Given the description of an element on the screen output the (x, y) to click on. 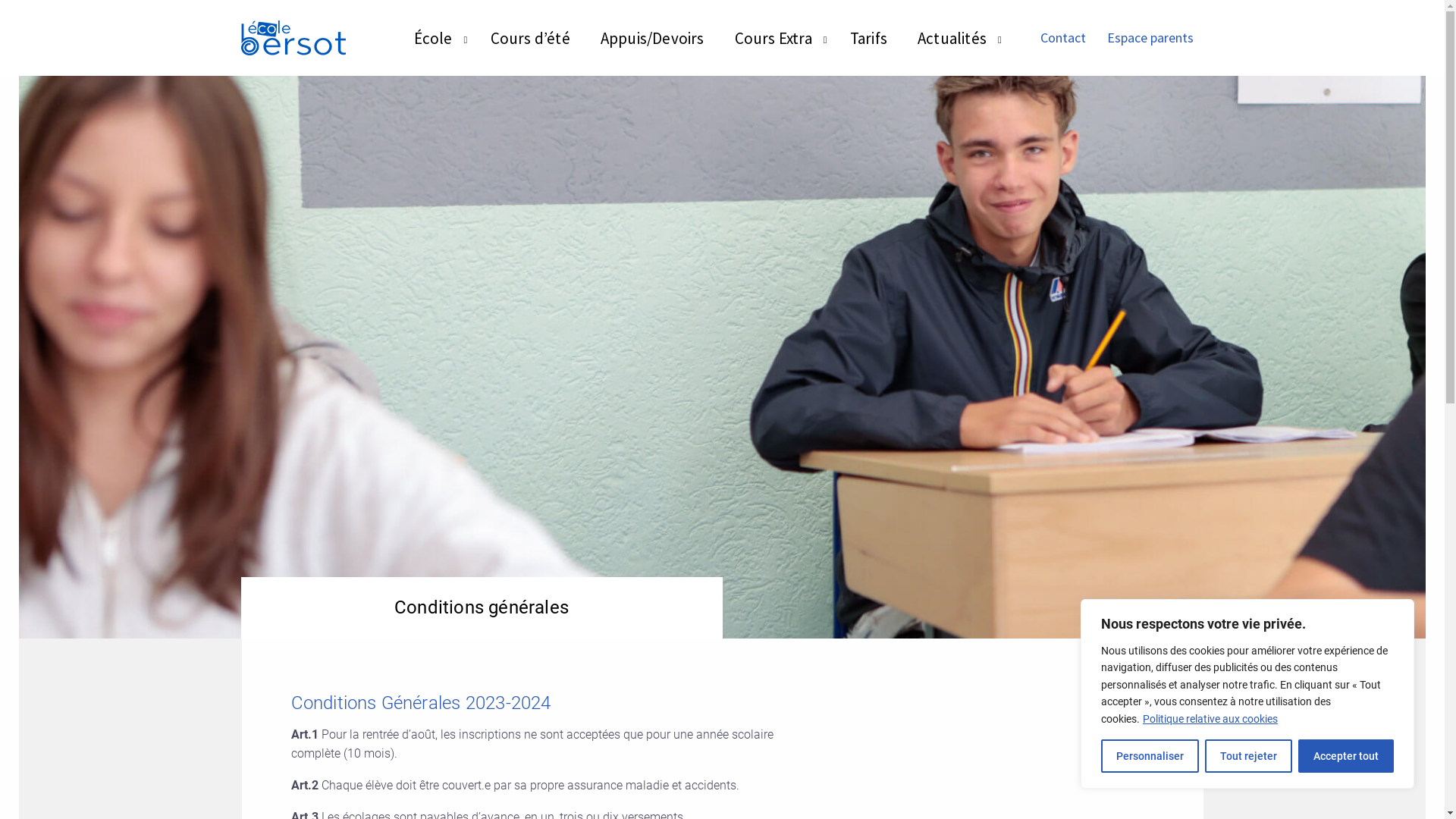
Tarifs Element type: text (868, 36)
Espace parents Element type: text (1150, 37)
Appuis/Devoirs Element type: text (652, 36)
Cours Extra Element type: text (773, 36)
Contact Element type: text (1062, 37)
